Given the description of an element on the screen output the (x, y) to click on. 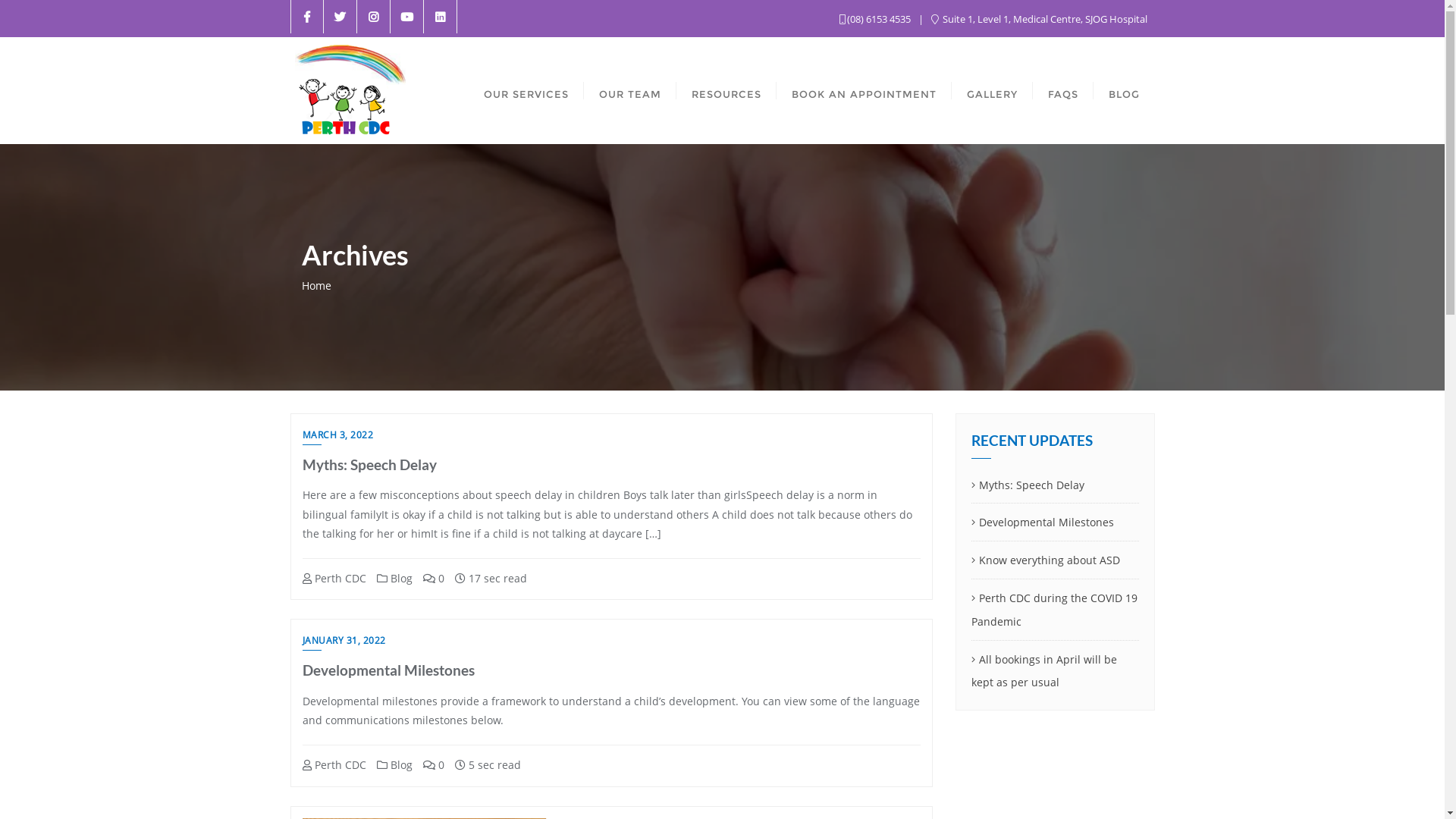
Blog Element type: text (393, 578)
0 Element type: text (433, 578)
Myths: Speech Delay Element type: text (368, 464)
All bookings in April will be kept as per usual Element type: text (1055, 671)
Perth CDC Element type: text (333, 764)
Myths: Speech Delay Element type: text (1055, 485)
JANUARY 31, 2022 Element type: text (343, 641)
Perth CDC during the COVID 19 Pandemic Element type: text (1055, 609)
OUR SERVICES Element type: text (525, 90)
GALLERY Element type: text (991, 90)
BLOG Element type: text (1123, 90)
MARCH 3, 2022 Element type: text (337, 436)
BOOK AN APPOINTMENT Element type: text (863, 90)
Know everything about ASD Element type: text (1055, 560)
FAQS Element type: text (1062, 90)
RESOURCES Element type: text (726, 90)
Perth CDC Element type: text (333, 578)
0 Element type: text (433, 764)
Developmental Milestones Element type: text (387, 669)
Blog Element type: text (393, 764)
Developmental Milestones Element type: text (1055, 522)
Home Element type: text (316, 285)
OUR TEAM Element type: text (629, 90)
